Given the description of an element on the screen output the (x, y) to click on. 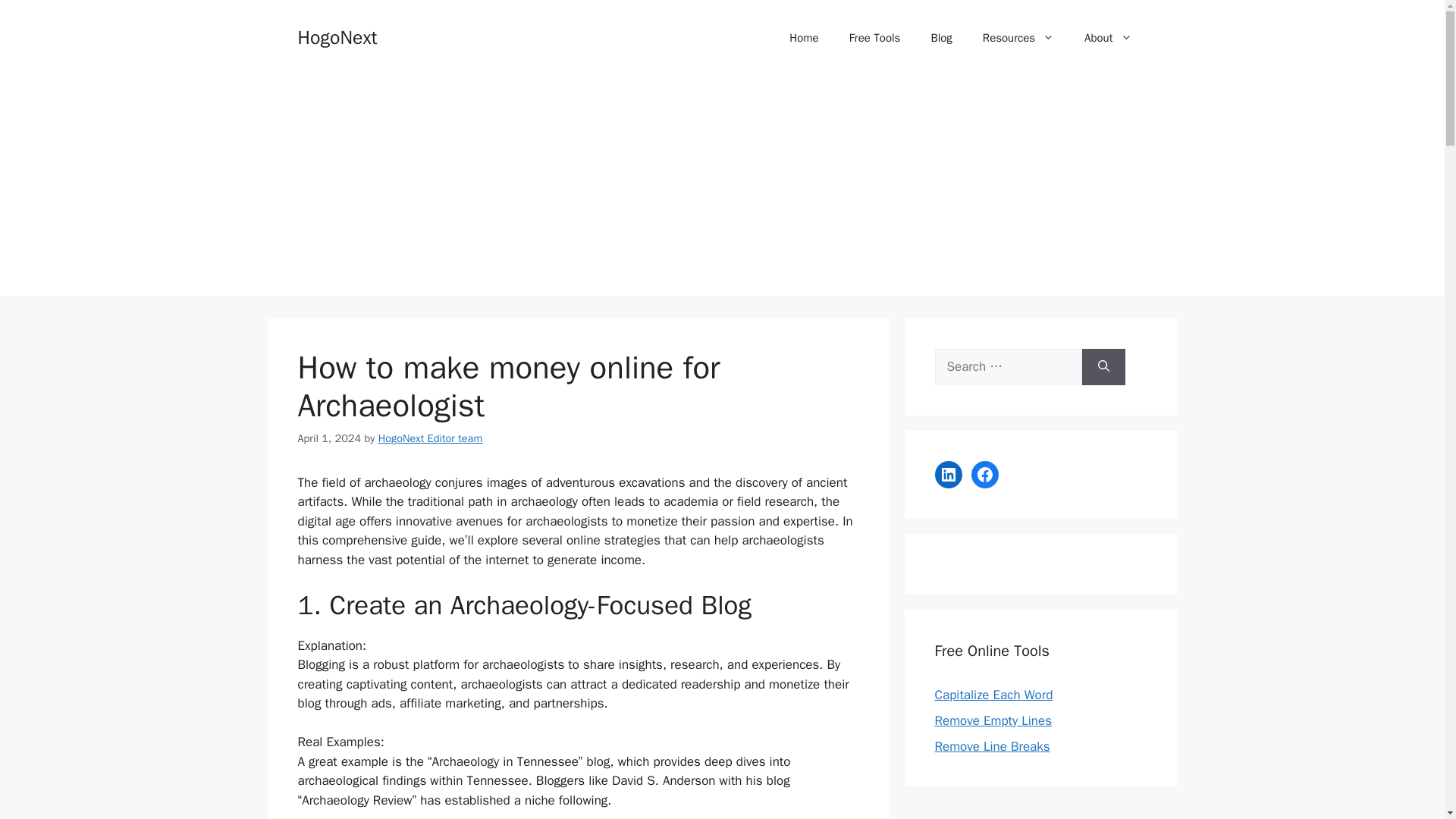
HogoNext (337, 37)
Free Tools (874, 37)
HogoNext Editor team (430, 438)
View all posts by HogoNext Editor team (430, 438)
Blog (940, 37)
Home (803, 37)
LinkedIn (947, 474)
About (1107, 37)
Search for: (1007, 366)
